Given the description of an element on the screen output the (x, y) to click on. 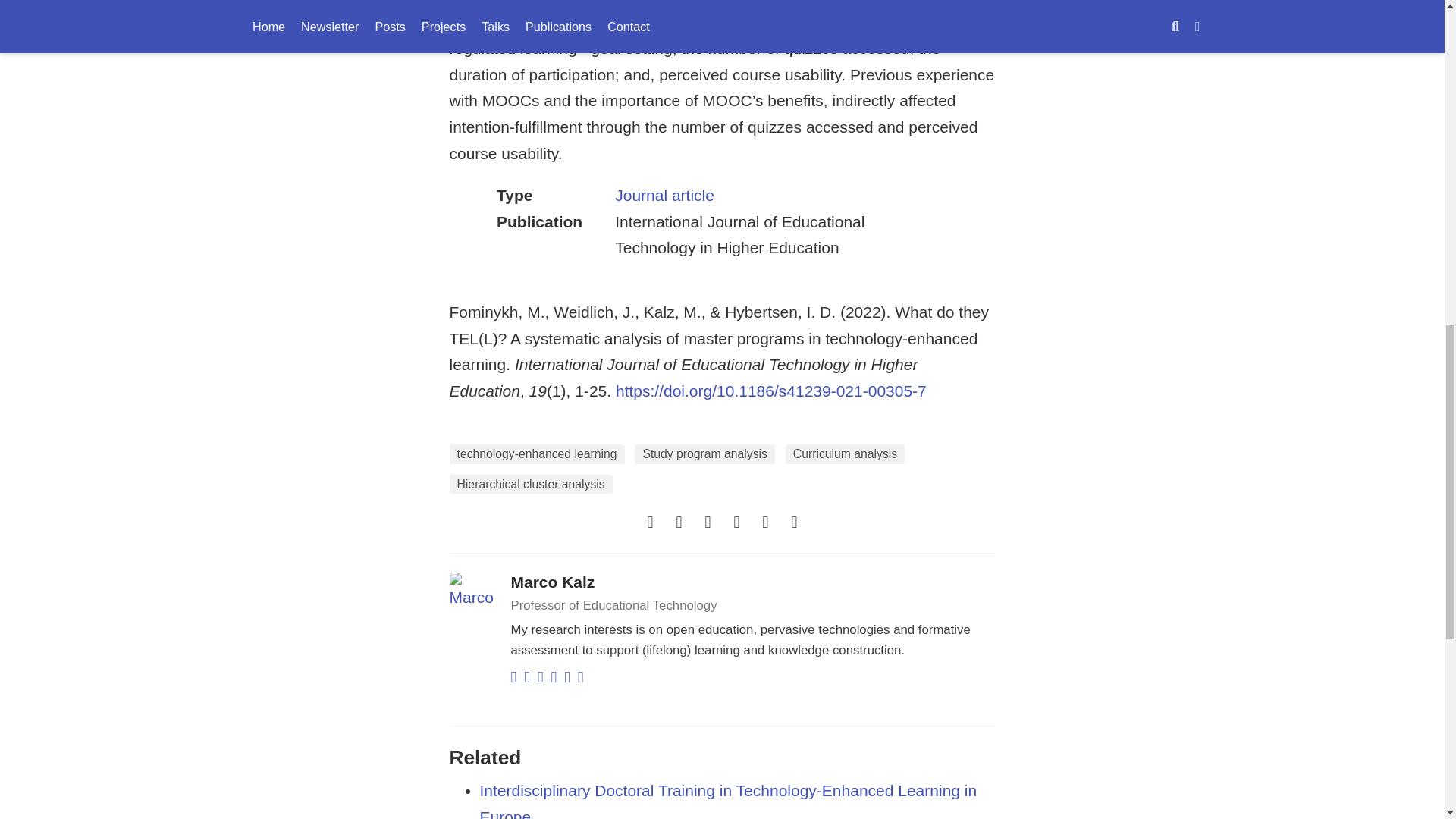
Marco Kalz (553, 581)
Journal article (664, 194)
Hierarchical cluster analysis (529, 484)
Curriculum analysis (845, 454)
technology-enhanced learning (536, 454)
Study program analysis (704, 454)
